Given the description of an element on the screen output the (x, y) to click on. 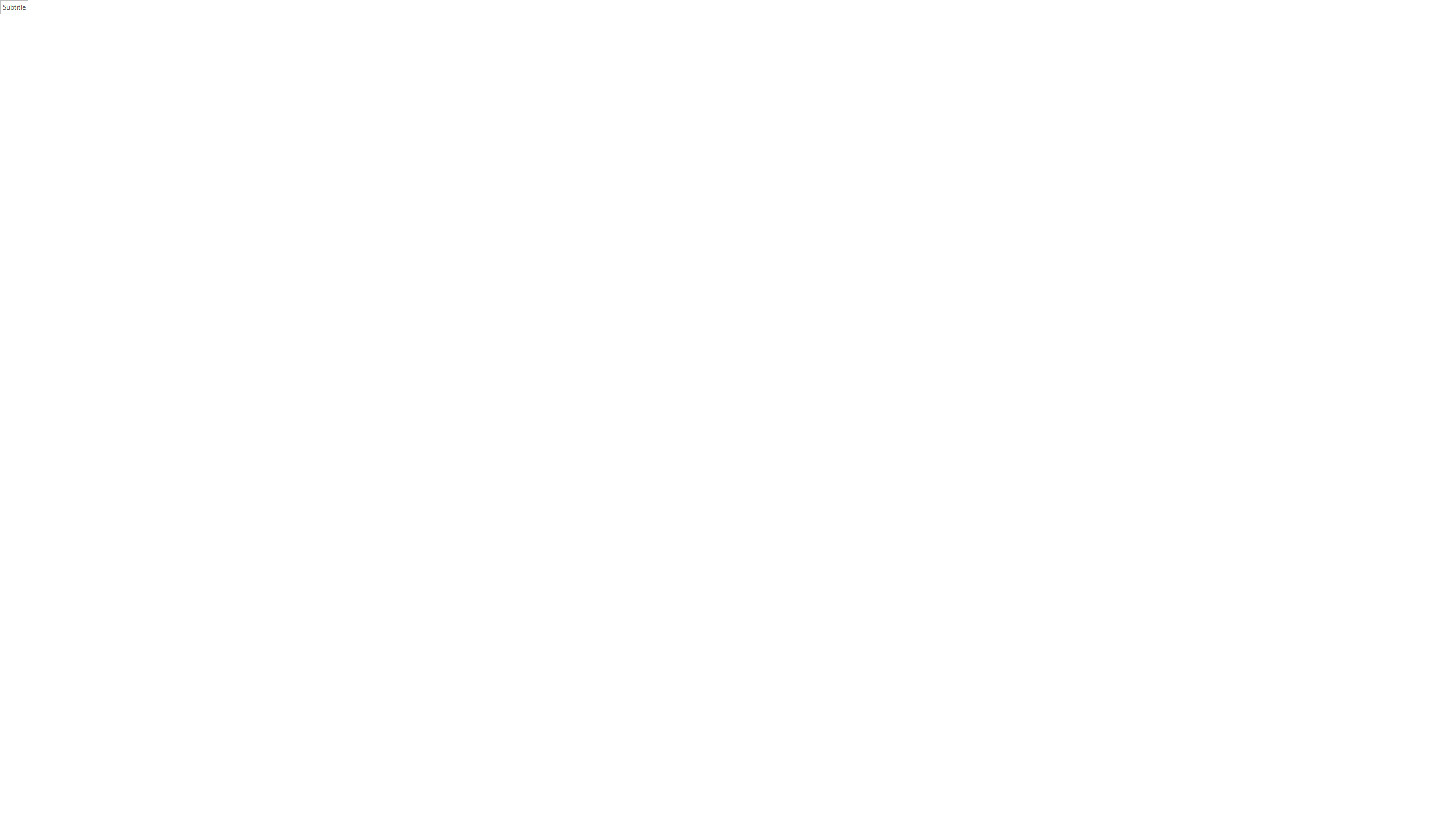
Align Left (300, 67)
Multilevel List (347, 49)
Page 1 content (800, 436)
Font Color (246, 67)
Shrink Font (208, 49)
